Given the description of an element on the screen output the (x, y) to click on. 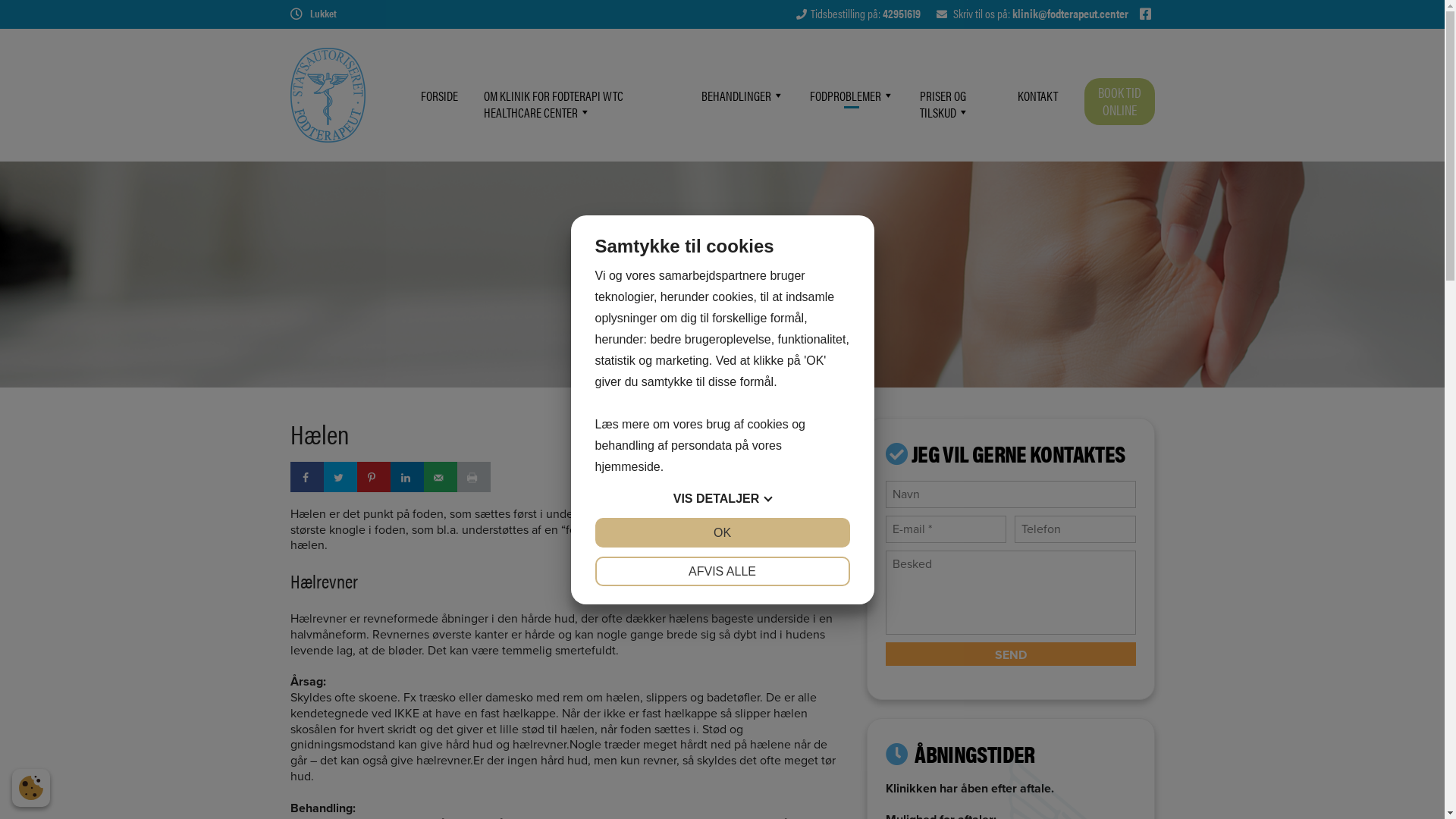
Share on Twitter Element type: hover (339, 476)
klinik@fodterapeut.center Element type: text (1069, 12)
Print this webpage Element type: hover (472, 476)
KONTAKT Element type: text (1037, 95)
42951619 Element type: text (901, 12)
Share on Facebook Element type: hover (306, 476)
AFVIS ALLE Element type: text (721, 571)
Share on LinkedIn Element type: hover (406, 476)
VIS DETALJER Element type: text (721, 498)
FODPROBLEMER Element type: text (851, 95)
OK Element type: text (721, 531)
OM KLINIK FOR FODTERAPI WTC HEALTHCARE CENTER Element type: text (578, 103)
PRISER OG TILSKUD Element type: text (955, 103)
BOOK TID ONLINE Element type: text (1119, 101)
Send over email Element type: hover (439, 476)
FORSIDE Element type: text (438, 95)
Send Element type: text (1010, 653)
BEHANDLINGER Element type: text (742, 95)
Save to Pinterest Element type: hover (372, 476)
